Given the description of an element on the screen output the (x, y) to click on. 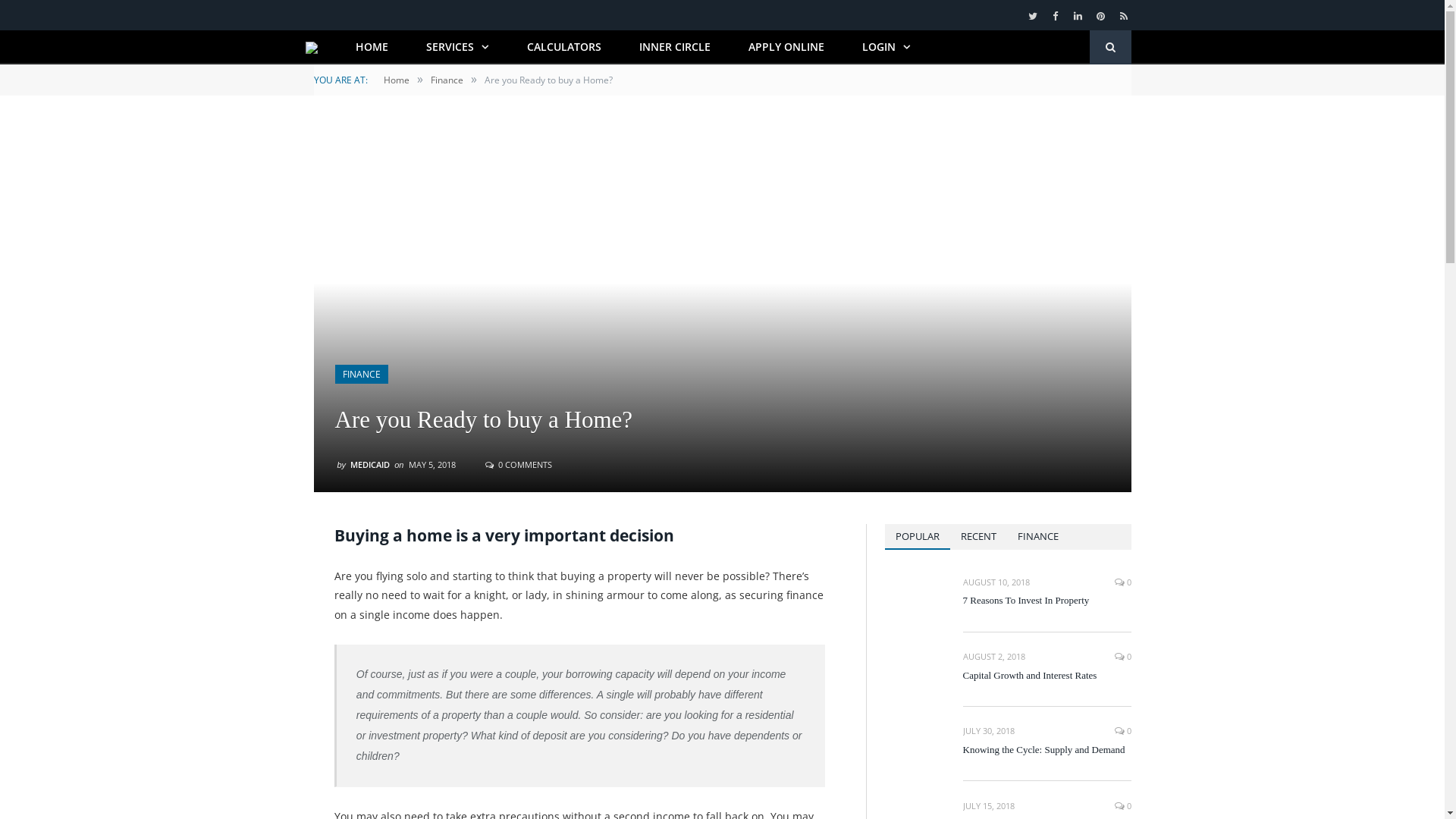
0 Element type: text (1122, 581)
Finance Element type: text (446, 79)
FINANCE Element type: text (361, 373)
CALCULATORS Element type: text (564, 47)
APPLY ONLINE Element type: text (786, 47)
Twitter Element type: text (1032, 16)
HOME Element type: text (371, 47)
SERVICES Element type: text (456, 47)
7 Reasons To Invest In Property Element type: text (1047, 600)
0 Element type: text (1122, 730)
RSS Element type: text (1123, 16)
Facebook Element type: text (1055, 16)
RECENT Element type: text (977, 536)
FINANCE Element type: text (1038, 536)
Knowing the Cycle: Supply and Demand Element type: text (1047, 750)
0 Element type: text (1122, 805)
Home Element type: text (396, 79)
POPULAR Element type: text (916, 536)
Search Element type: hover (1109, 47)
MEDICAID Element type: text (370, 463)
0 Element type: text (1122, 656)
INNER CIRCLE Element type: text (674, 47)
LOGIN Element type: text (886, 47)
0 COMMENTS Element type: text (518, 463)
Pinterest Element type: text (1100, 16)
Capital Growth and Interest Rates Element type: text (1047, 676)
LinkedIn Element type: text (1077, 16)
